Given the description of an element on the screen output the (x, y) to click on. 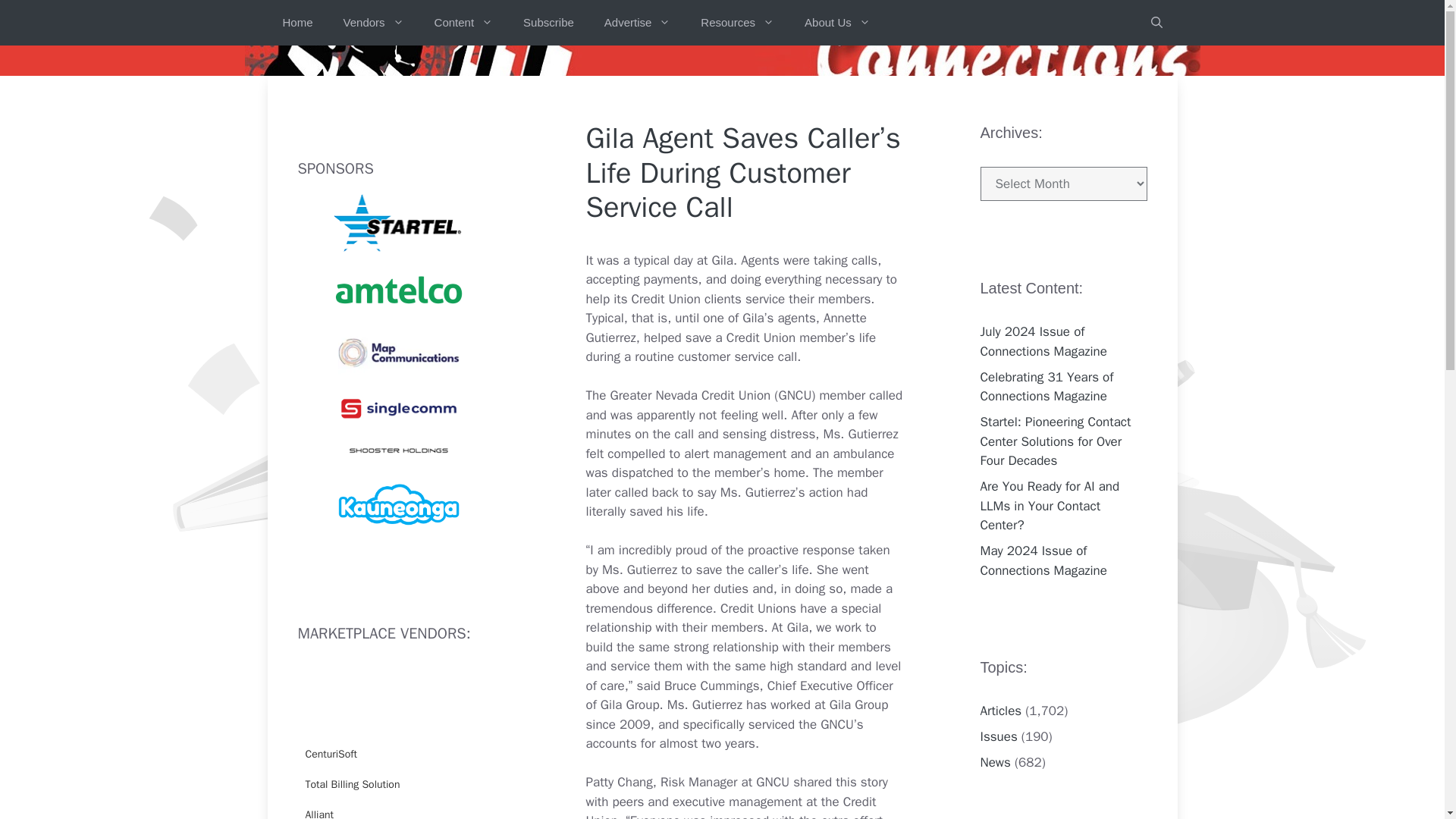
Home (296, 22)
Resources (737, 22)
Content (463, 22)
Subscribe (548, 22)
About Us (837, 22)
Advertise (637, 22)
Vendors (374, 22)
